Given the description of an element on the screen output the (x, y) to click on. 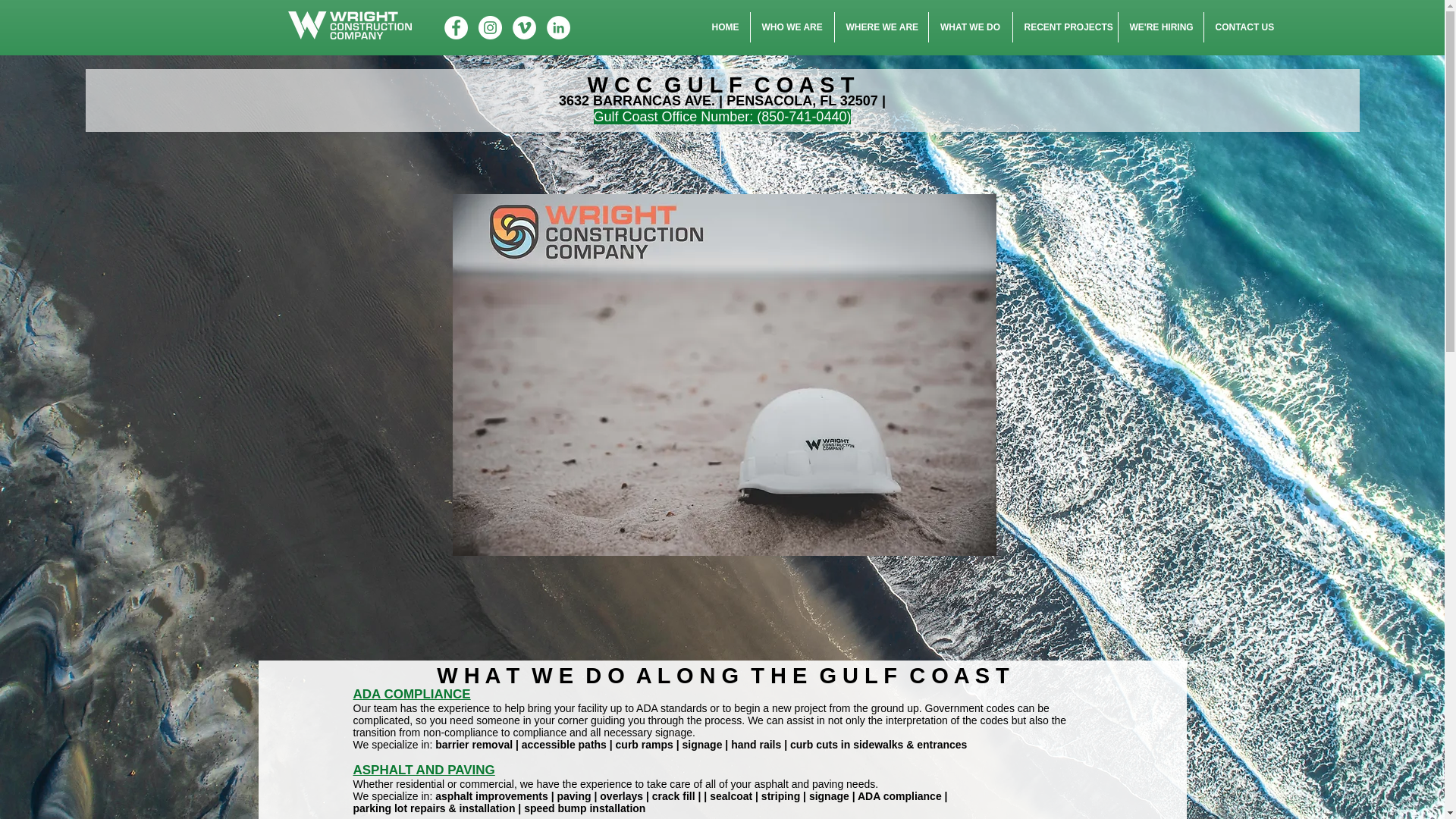
ADA COMPLIANCE (411, 694)
HOME (724, 27)
ASPHALT AND PAVING (424, 769)
WHERE WE ARE (880, 27)
WE'RE HIRING (1160, 27)
CONTACT US (1243, 27)
WHO WE ARE (792, 27)
RECENT PROJECTS (1065, 27)
